Given the description of an element on the screen output the (x, y) to click on. 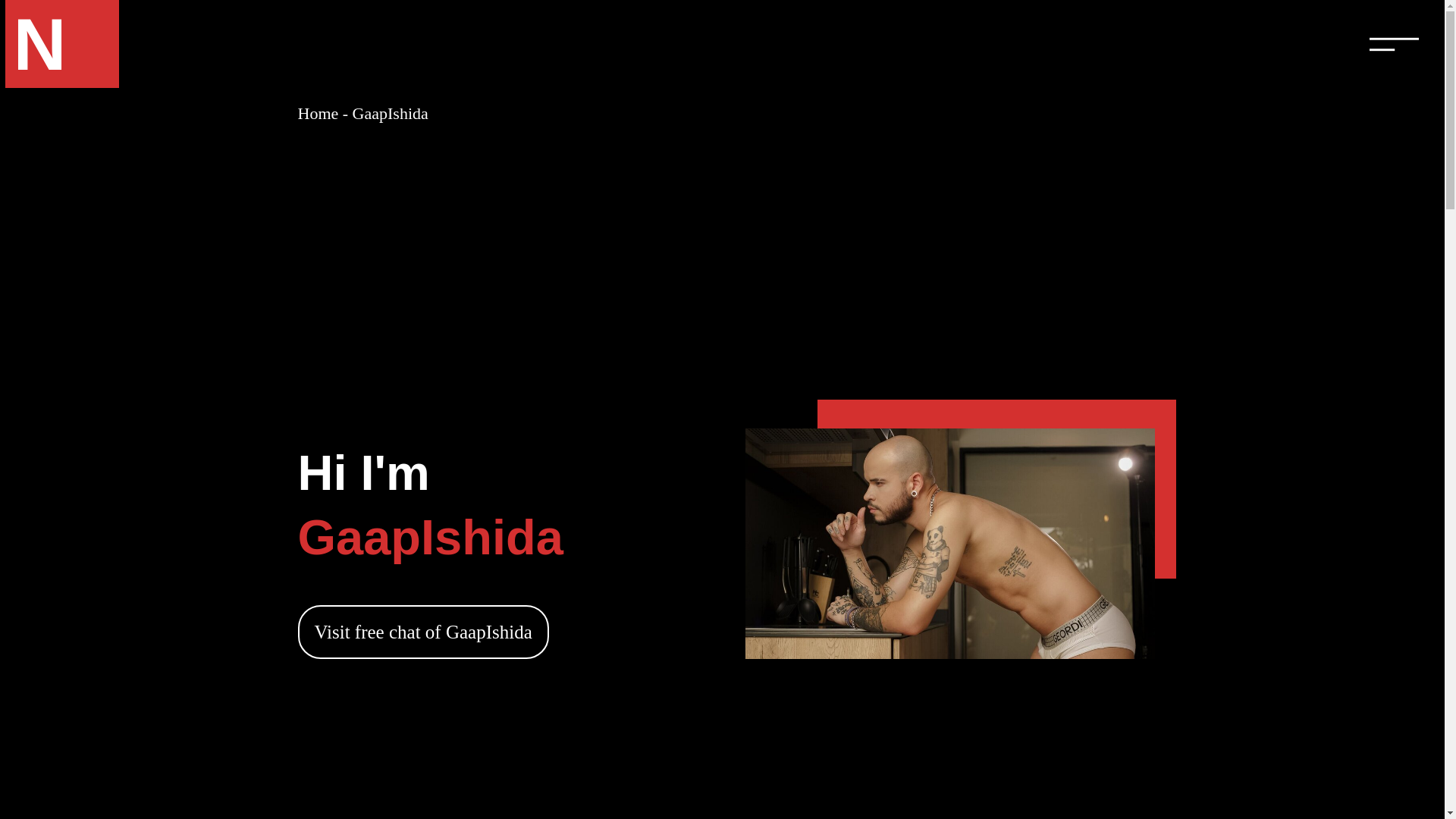
Home (317, 113)
Visit free chat of GaapIshida (422, 632)
Home (317, 113)
